Given the description of an element on the screen output the (x, y) to click on. 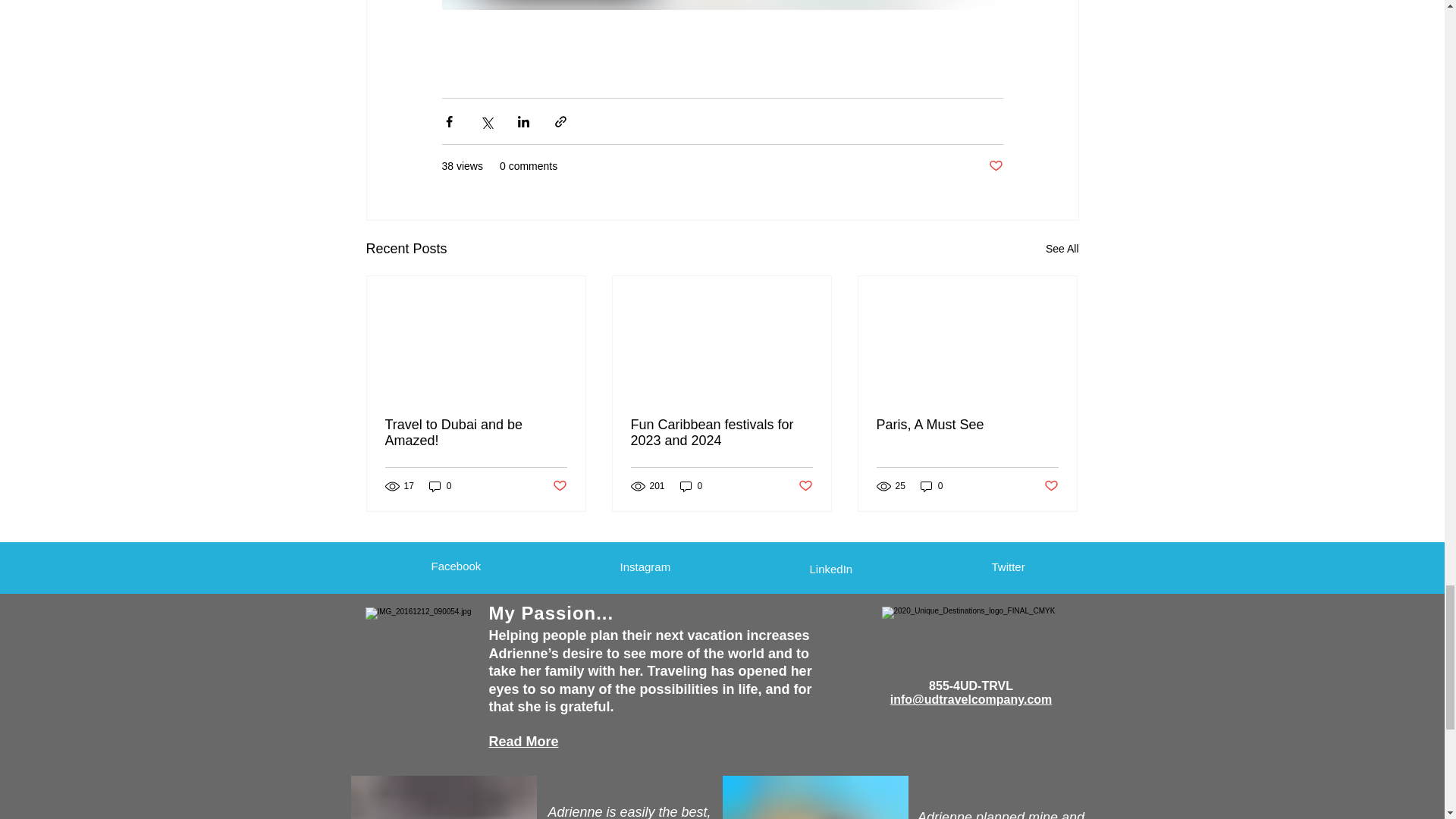
Fun Caribbean festivals for 2023 and 2024 (721, 432)
0 (691, 486)
See All (1061, 249)
0 (440, 486)
Travel to Dubai and be Amazed! (476, 432)
Post not marked as liked (558, 486)
Post not marked as liked (995, 166)
Post not marked as liked (804, 486)
